Given the description of an element on the screen output the (x, y) to click on. 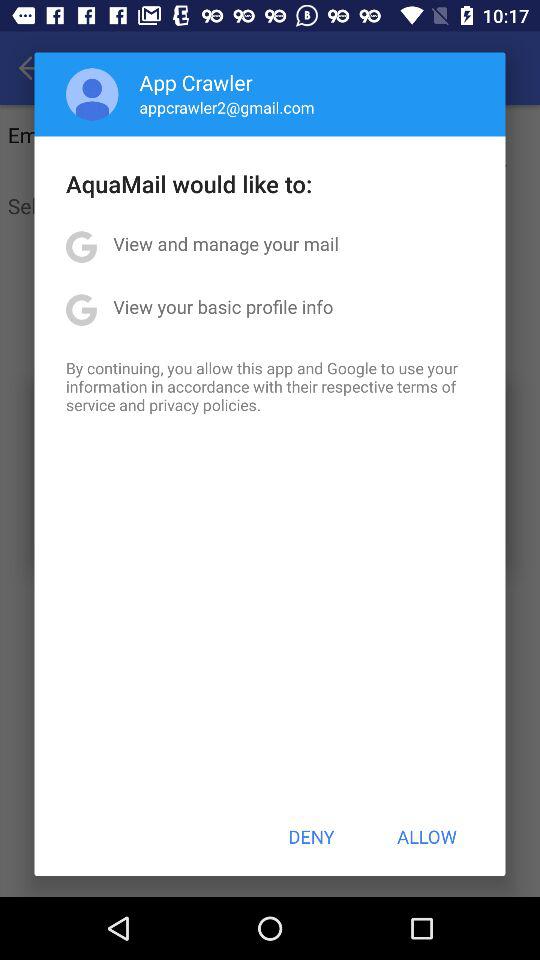
jump to view and manage (225, 243)
